Given the description of an element on the screen output the (x, y) to click on. 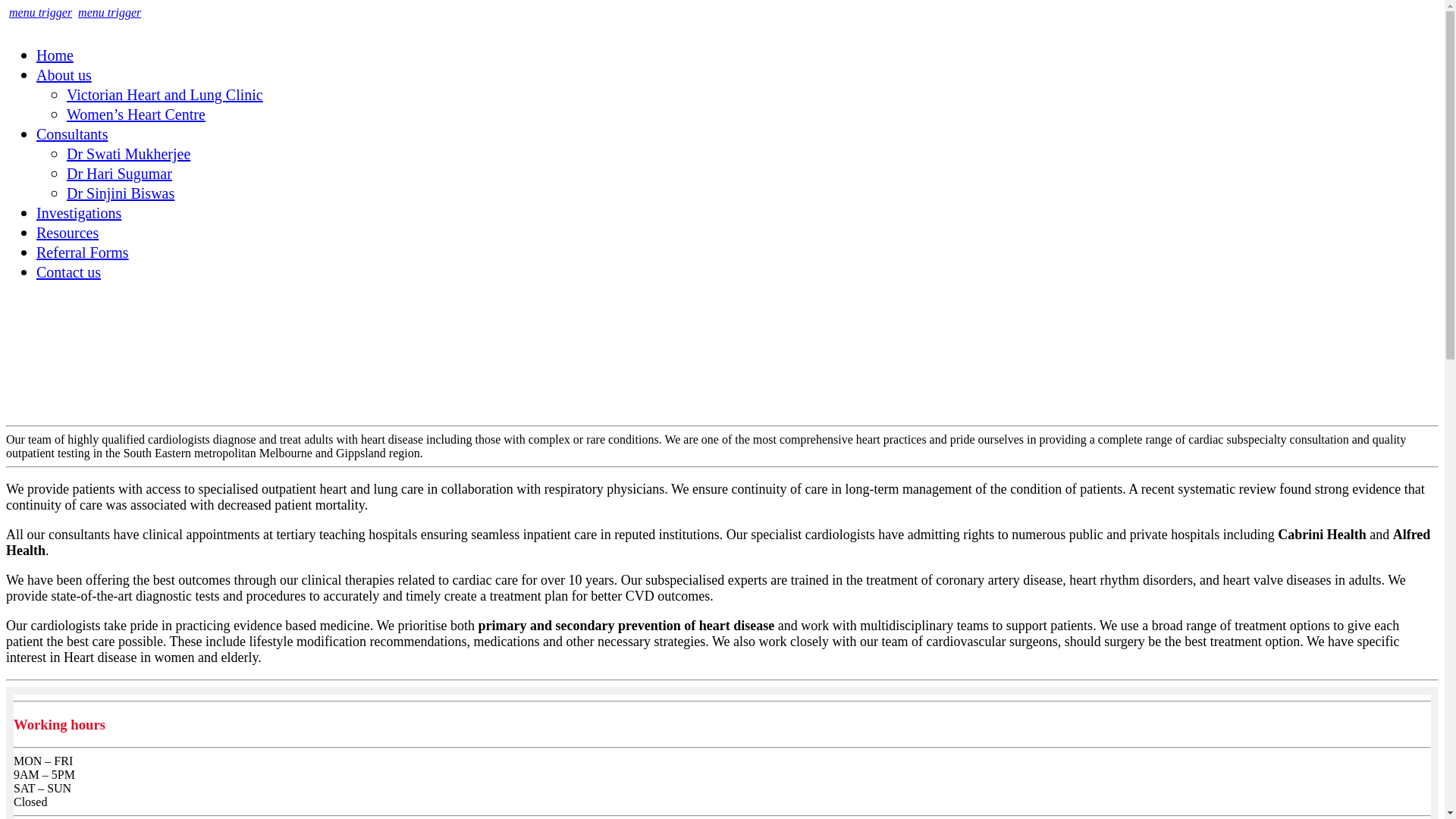
Home Element type: text (56, 303)
Referral Forms Element type: text (82, 252)
Dr Sinjini Biswas Element type: text (120, 193)
Consultants Element type: text (71, 133)
Victorian Heart and Lung Clinic Element type: text (164, 94)
menu trigger Element type: text (40, 12)
Investigations Element type: text (78, 212)
Home Element type: text (54, 55)
About us Element type: text (58, 319)
menu trigger Element type: text (109, 12)
Contact us Element type: text (68, 271)
Resources Element type: text (67, 232)
About us Element type: text (63, 74)
Dr Hari Sugumar Element type: text (119, 173)
Dr Swati Mukherjee Element type: text (128, 153)
